Given the description of an element on the screen output the (x, y) to click on. 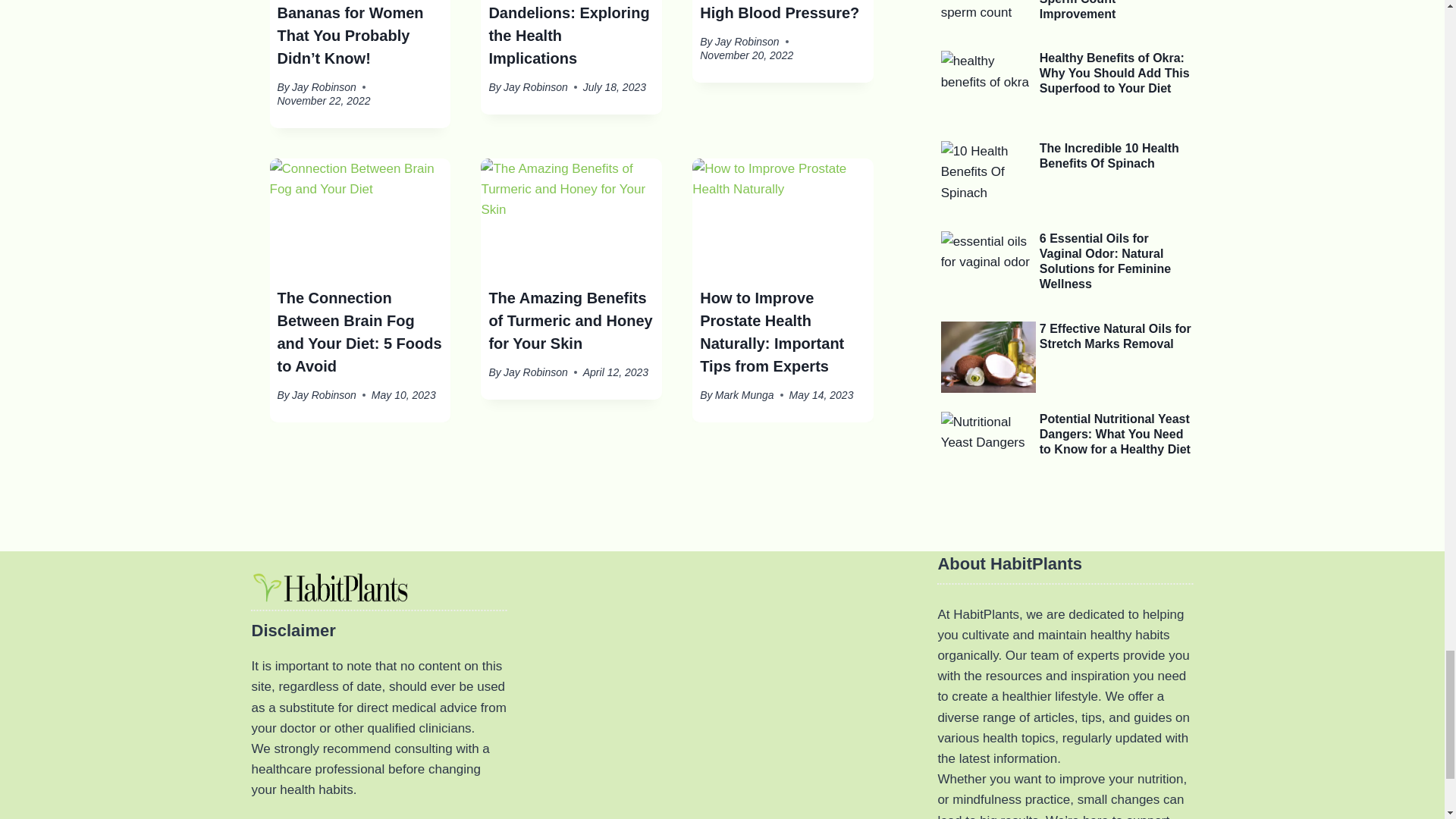
Jay Robinson (324, 87)
